Given the description of an element on the screen output the (x, y) to click on. 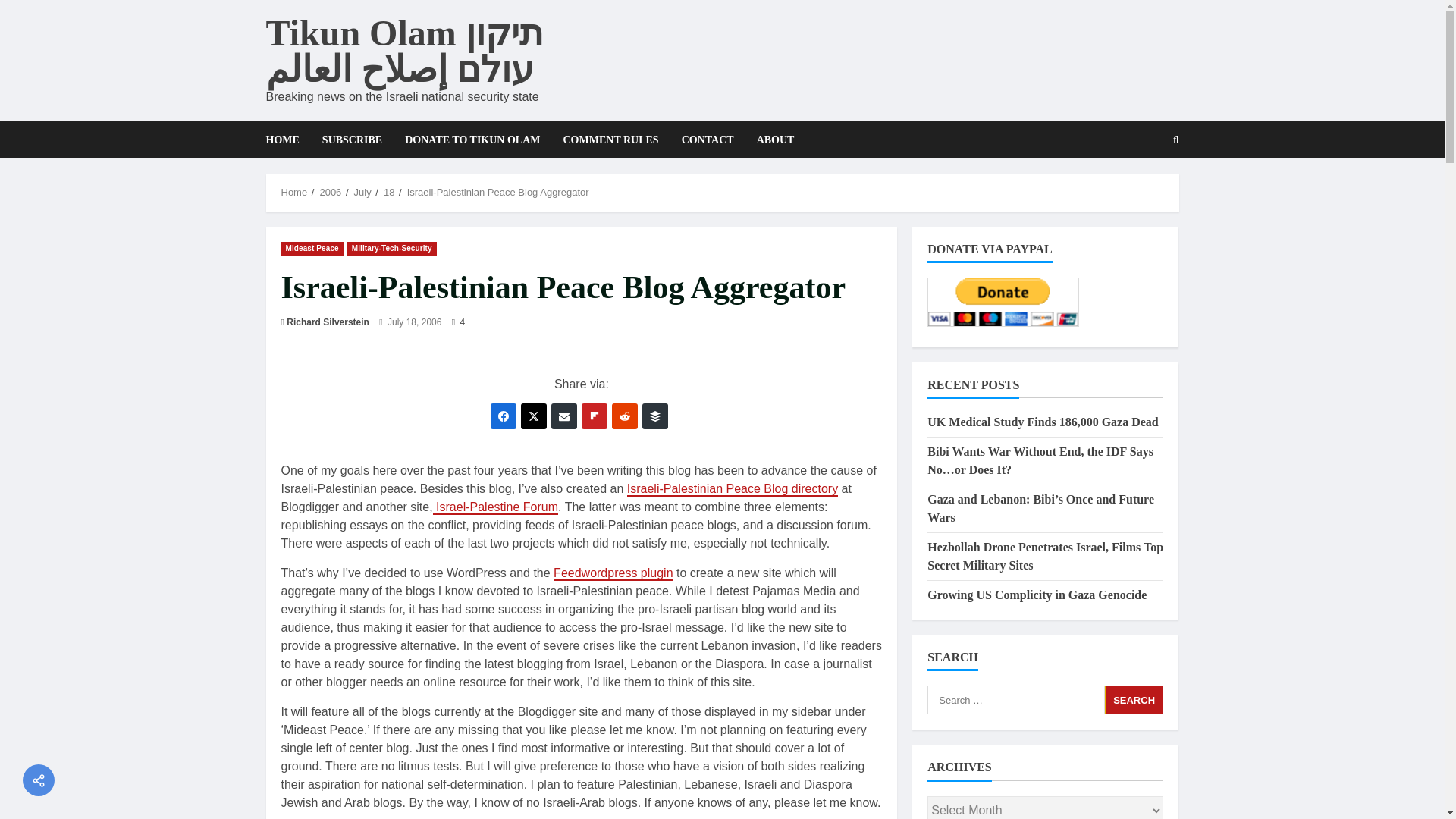
18 (389, 192)
COMMENT RULES (610, 139)
Israeli-Palestinian Peace Blog Aggregator (498, 192)
Search (1134, 699)
DONATE TO TIKUN OLAM (472, 139)
Richard Silverstein (327, 322)
SUBSCRIBE (352, 139)
Feedwordpress plugin (612, 573)
Military-Tech-Security (391, 247)
Search (1134, 699)
PayPal - The safer, easier way to pay online! (1002, 301)
ABOUT (769, 139)
Israel-Palestine Forum (494, 507)
Home (294, 192)
Search (1139, 191)
